Given the description of an element on the screen output the (x, y) to click on. 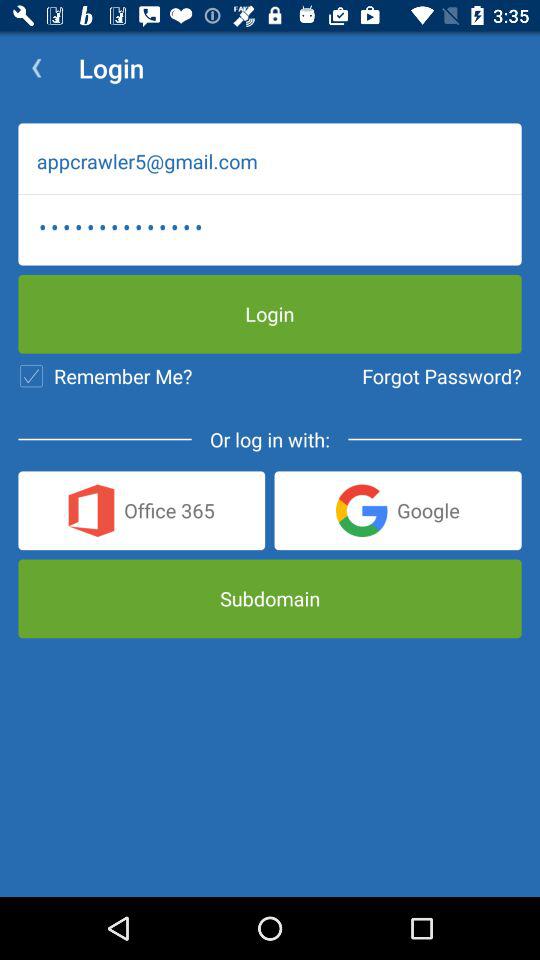
turn on icon next to forgot password? (105, 376)
